Given the description of an element on the screen output the (x, y) to click on. 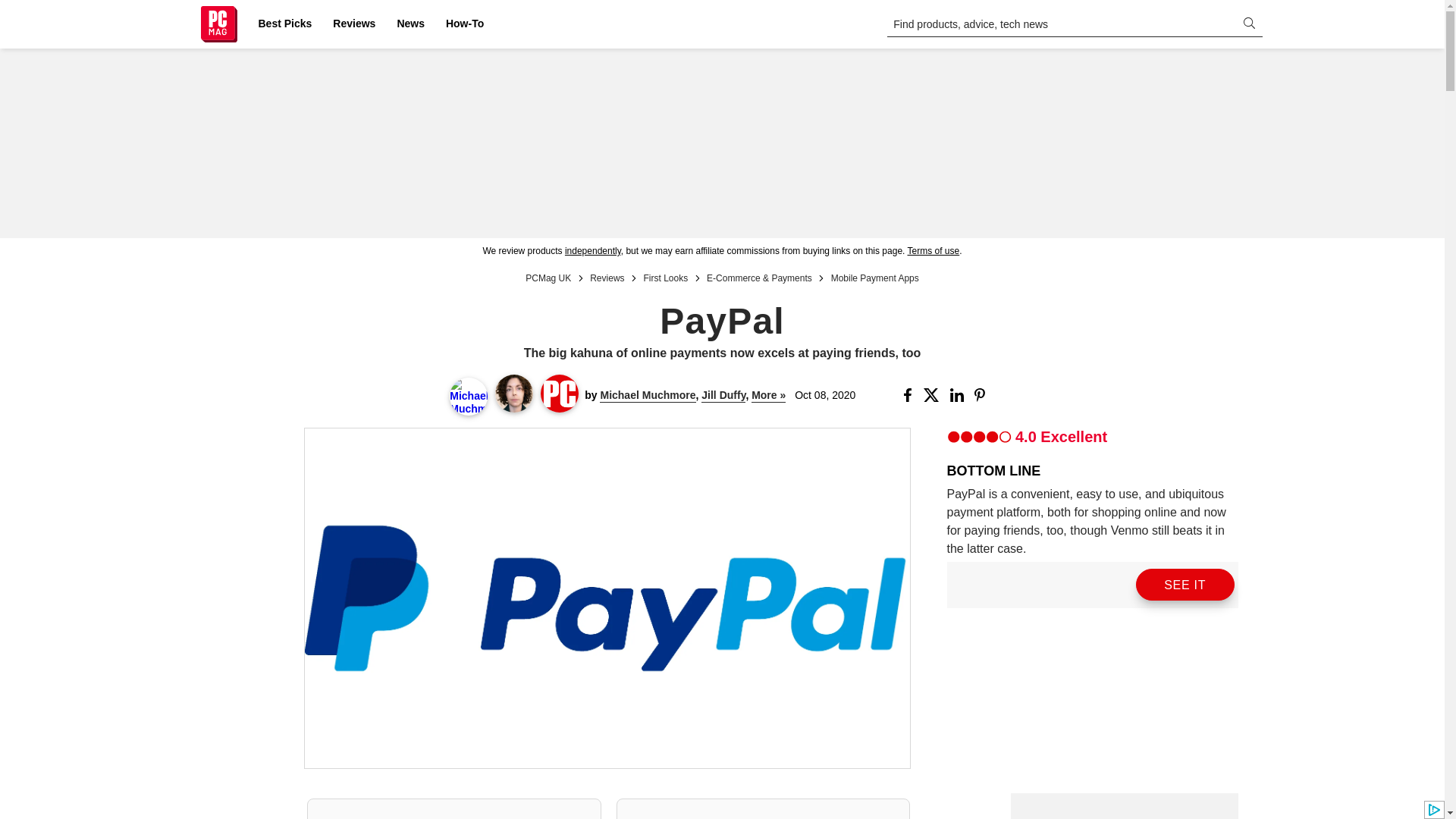
Best Picks (284, 24)
Share this Story on Facebook (910, 395)
Share this Story on Linkedin (959, 395)
Share this Story on Pinterest (984, 395)
Share this Story on X (933, 395)
